Given the description of an element on the screen output the (x, y) to click on. 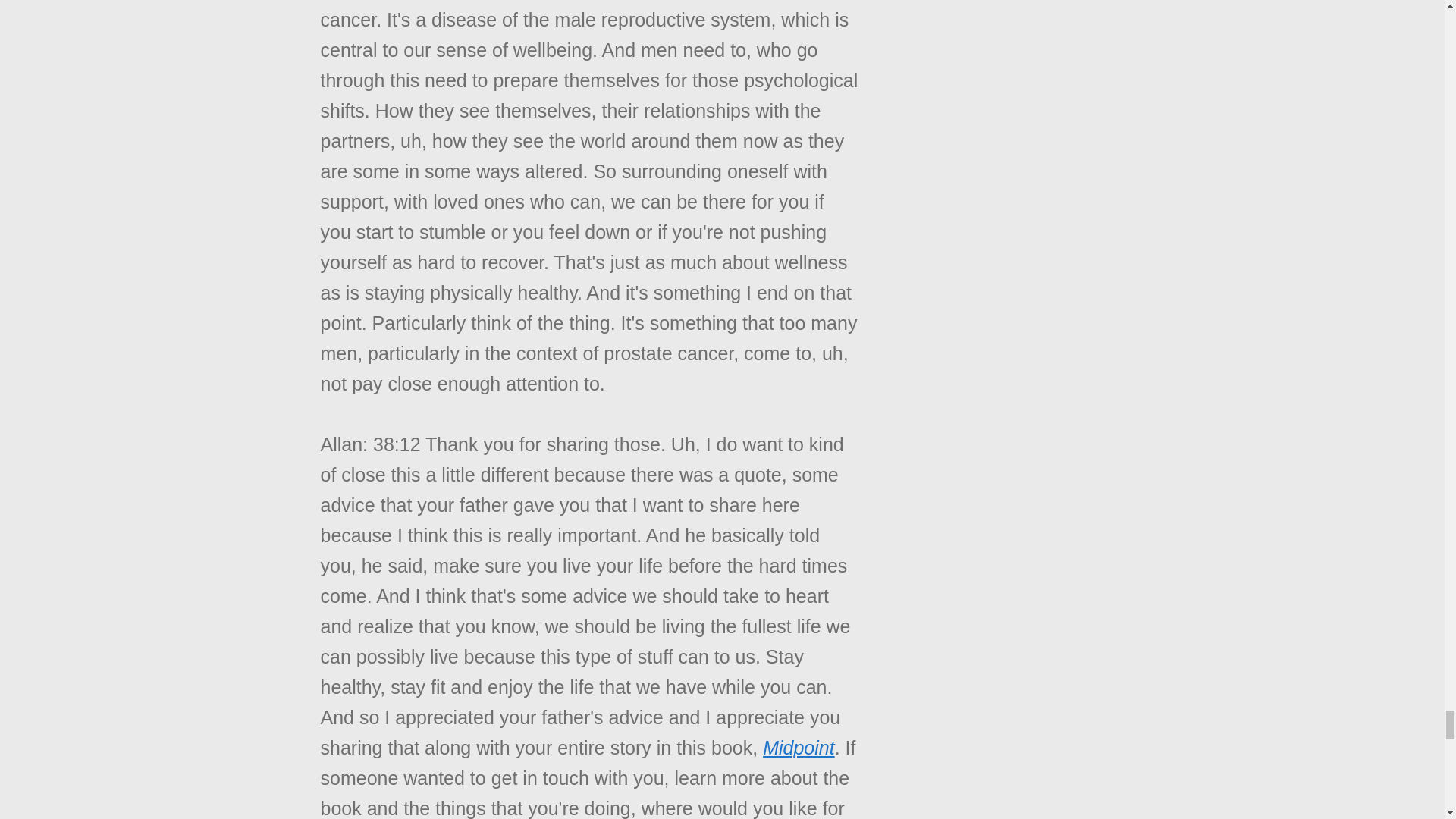
Midpoint (798, 747)
